Given the description of an element on the screen output the (x, y) to click on. 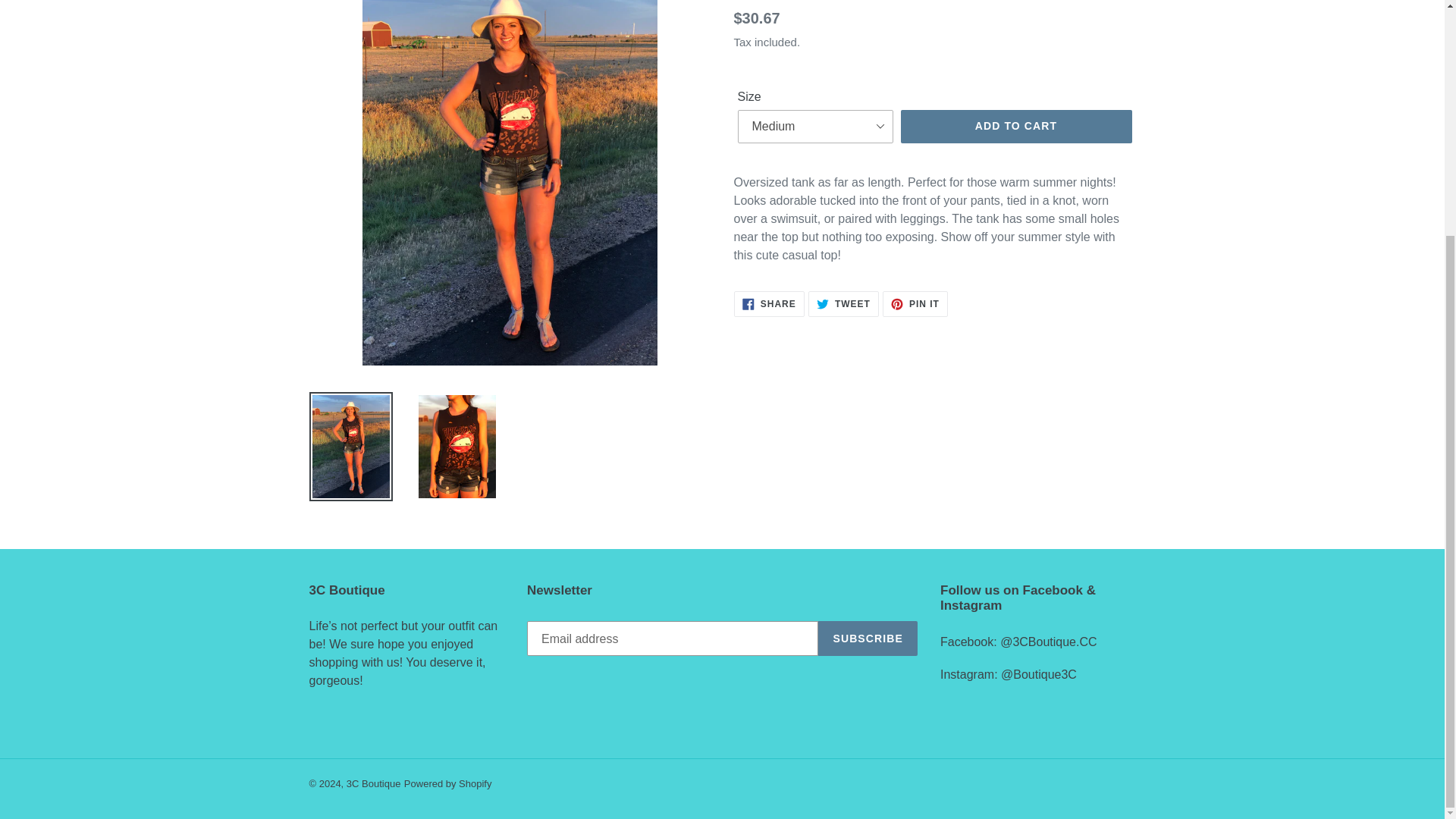
ADD TO CART (843, 303)
Powered by Shopify (1016, 126)
3C Boutique (448, 783)
SUBSCRIBE (769, 303)
